Given the description of an element on the screen output the (x, y) to click on. 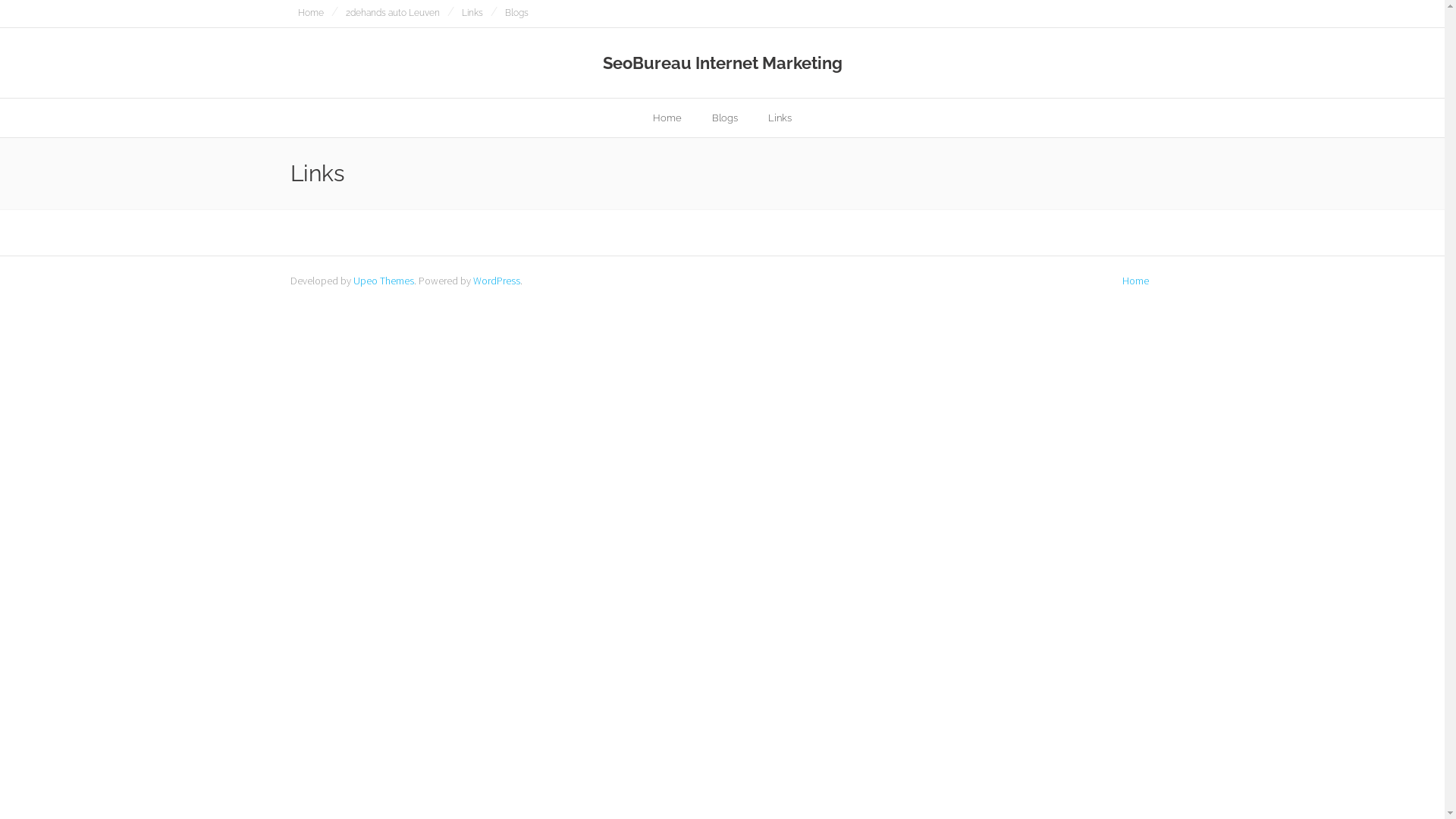
Links Element type: text (471, 13)
Home Element type: text (1135, 280)
Home Element type: text (309, 13)
Upeo Themes Element type: text (383, 280)
WordPress Element type: text (496, 280)
Links Element type: text (779, 117)
Home Element type: text (666, 117)
Blogs Element type: text (516, 13)
Blogs Element type: text (724, 117)
2dehands auto Leuven Element type: text (392, 13)
SeoBureau Internet Marketing Element type: text (722, 62)
